Given the description of an element on the screen output the (x, y) to click on. 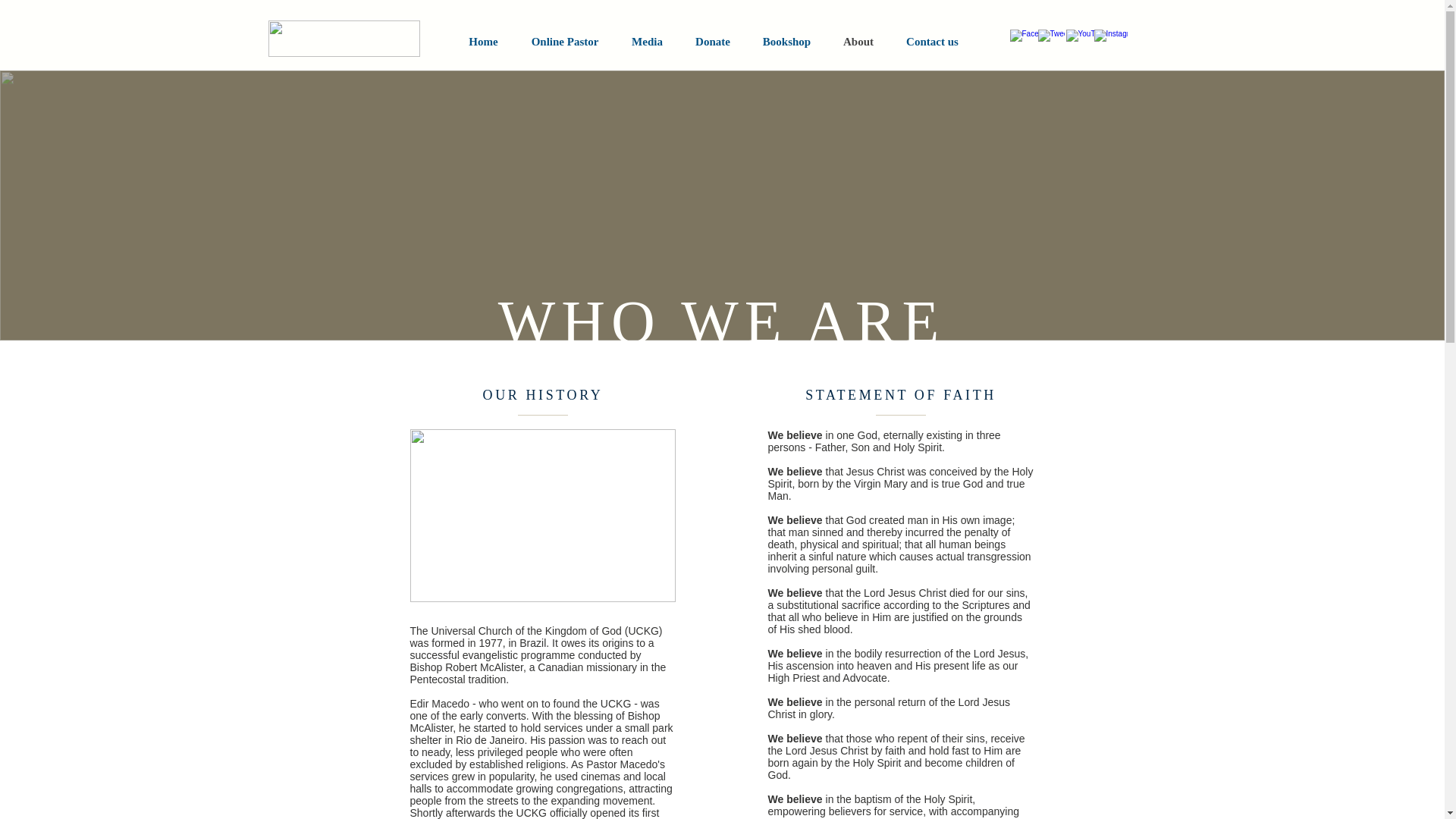
About (858, 41)
Bookshop (786, 41)
Donate (712, 41)
Home (482, 41)
Media (647, 41)
Online Pastor (563, 41)
Contact us (932, 41)
